Given the description of an element on the screen output the (x, y) to click on. 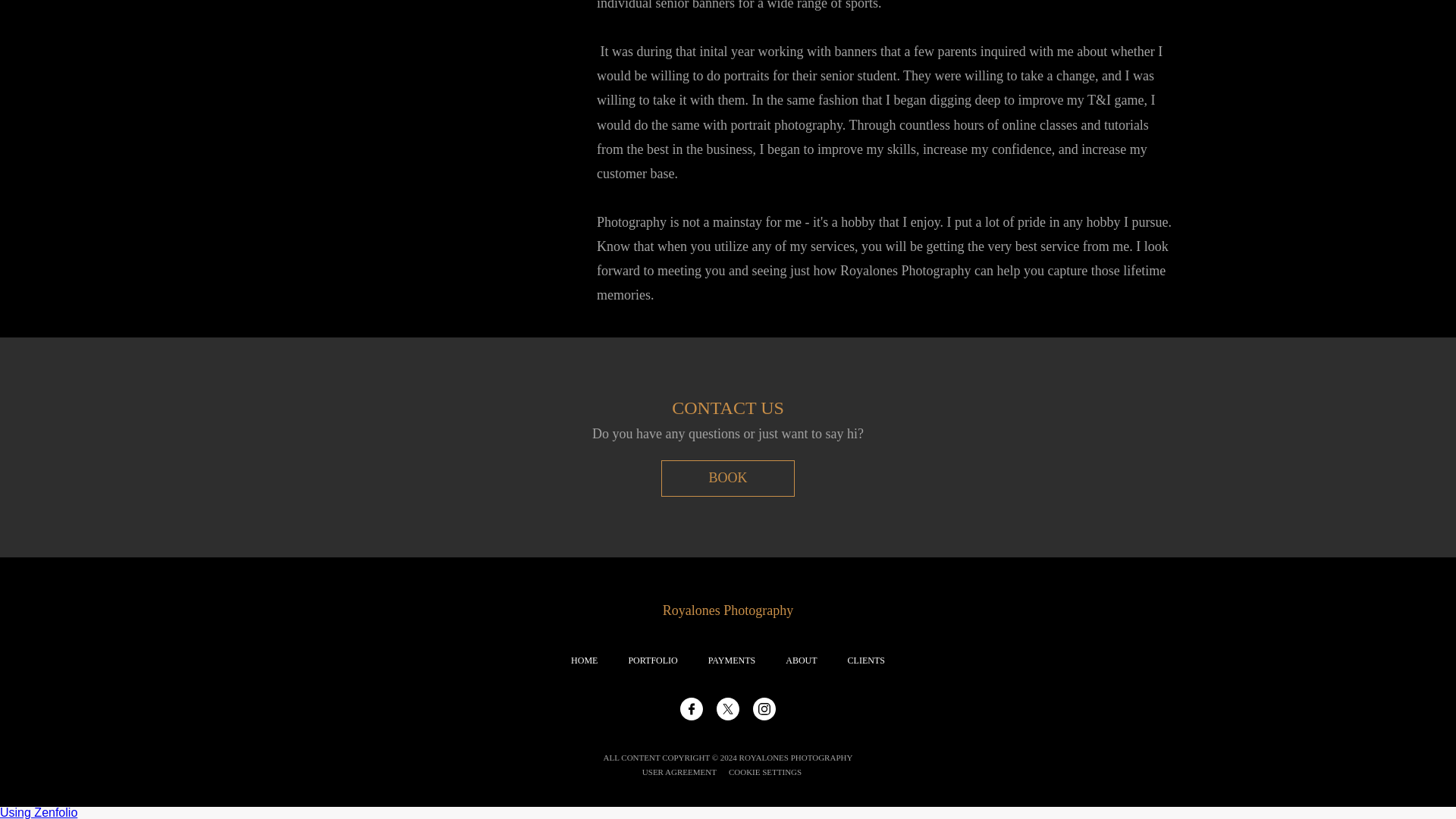
HOME (583, 660)
BOOK (727, 478)
PAYMENTS (731, 660)
CLIENTS (866, 660)
PORTFOLIO (652, 660)
Royalones Photography (727, 610)
ABOUT (801, 660)
